Given the description of an element on the screen output the (x, y) to click on. 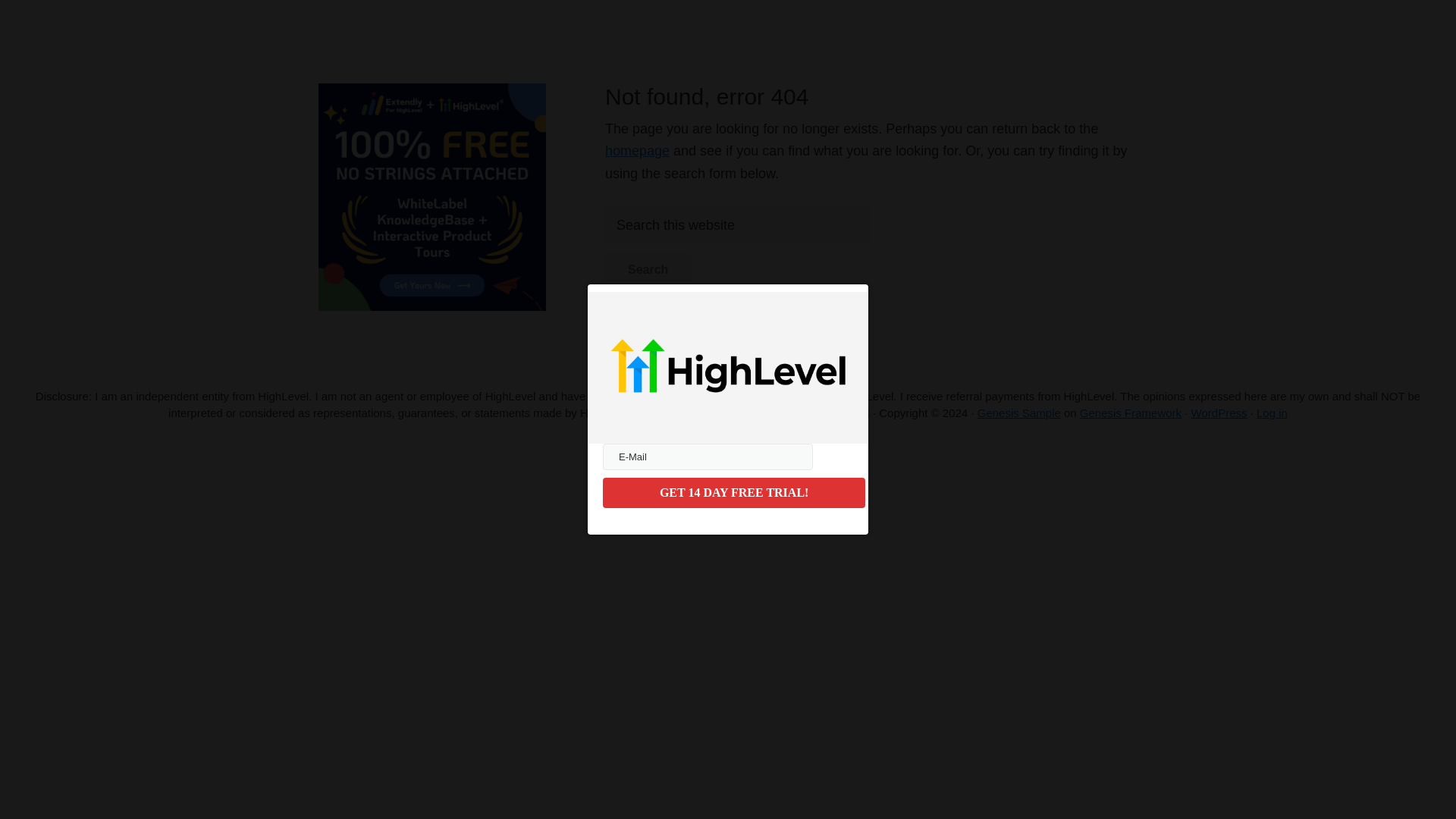
Search (647, 269)
Search (647, 269)
Search (647, 269)
homepage (637, 150)
Genesis Framework (1130, 412)
Genesis Sample (1018, 412)
WordPress (1219, 412)
Log in (1271, 412)
